Given the description of an element on the screen output the (x, y) to click on. 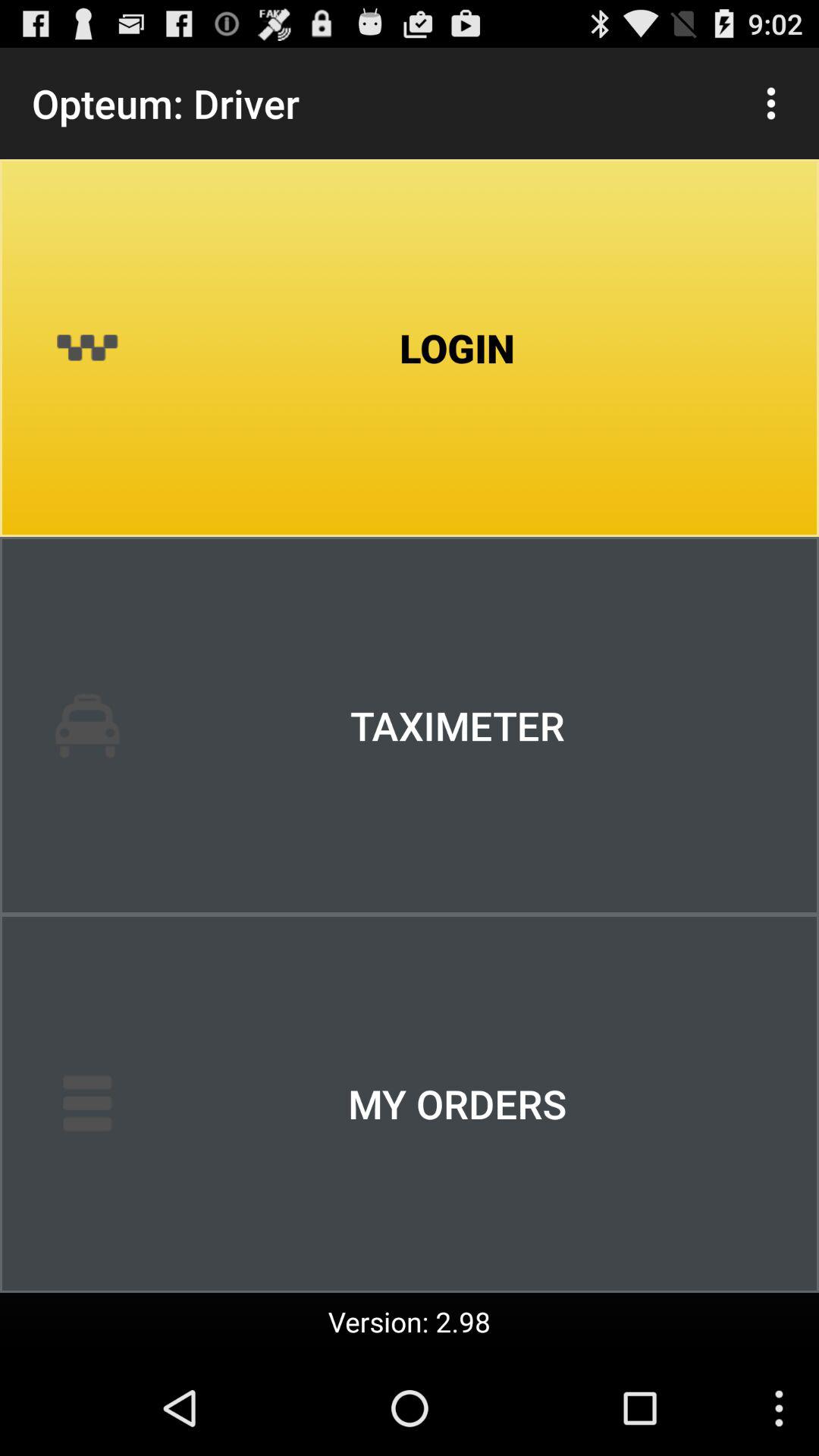
open the item above my orders icon (409, 725)
